Given the description of an element on the screen output the (x, y) to click on. 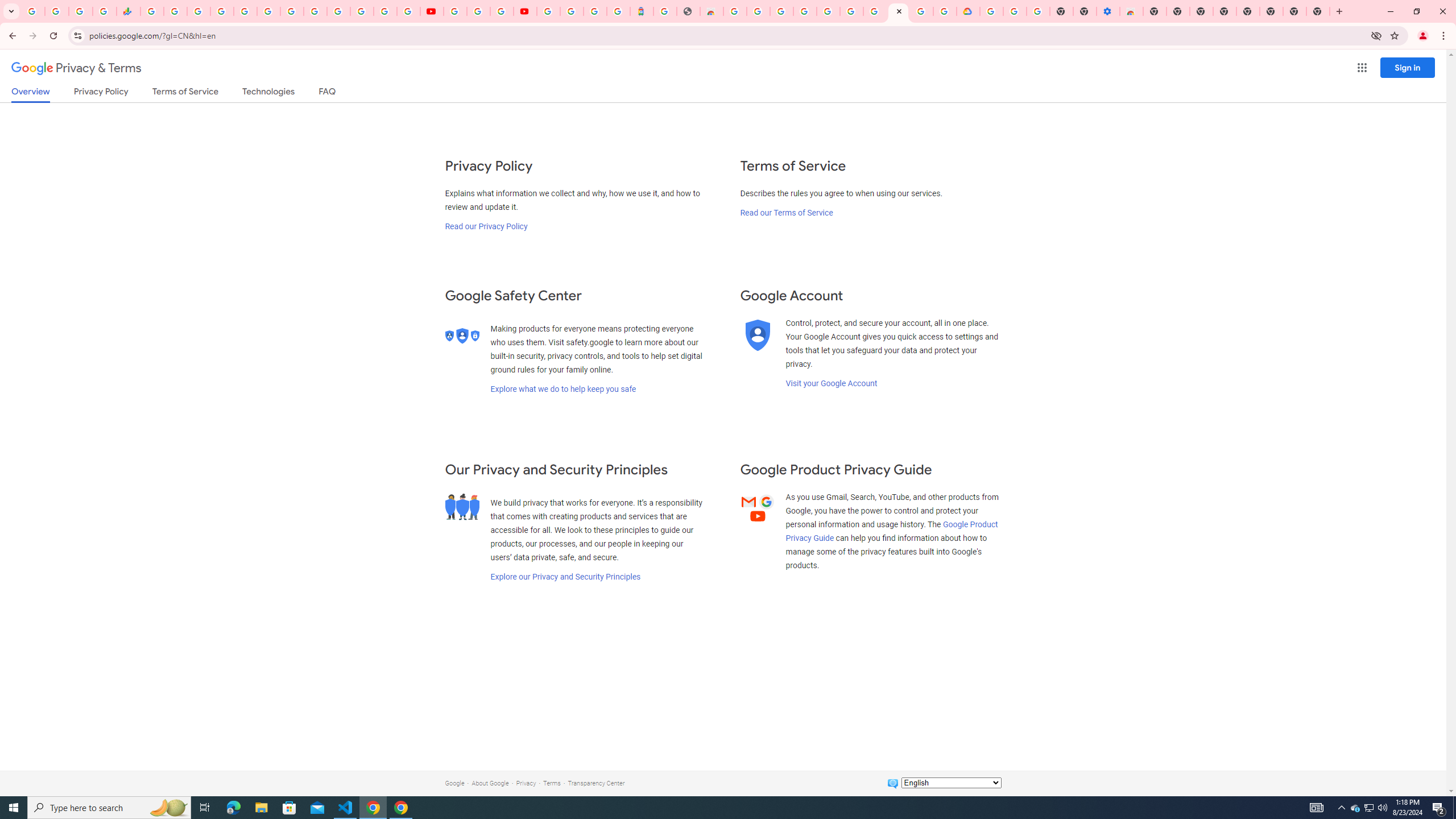
Visit your Google Account (830, 383)
Atour Hotel - Google hotels (641, 11)
Create your Google Account (757, 11)
Explore our Privacy and Security Principles (565, 576)
